Given the description of an element on the screen output the (x, y) to click on. 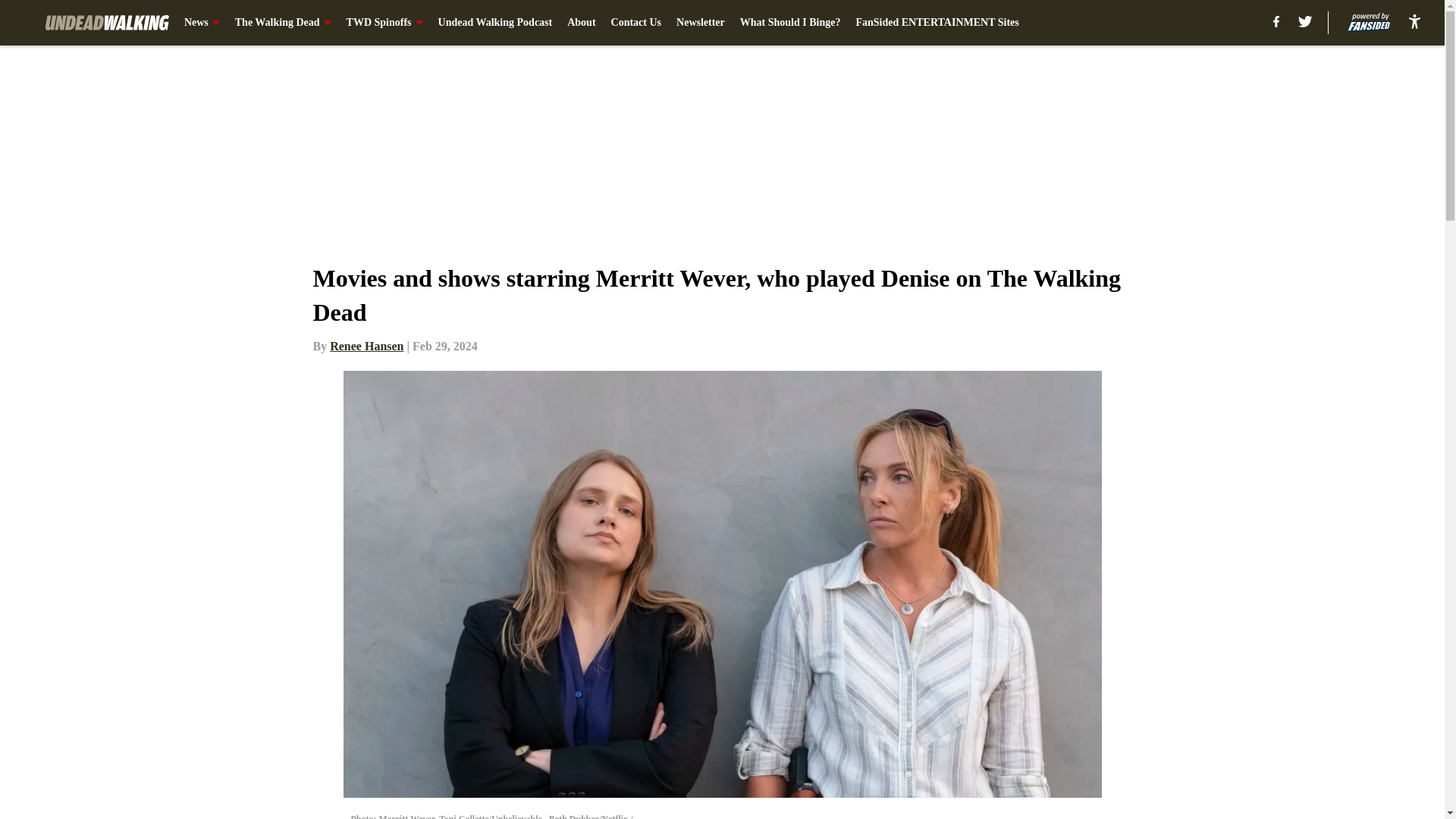
What Should I Binge? (790, 22)
About (581, 22)
Undead Walking Podcast (495, 22)
Renee Hansen (366, 345)
FanSided ENTERTAINMENT Sites (936, 22)
Contact Us (636, 22)
Newsletter (701, 22)
